Given the description of an element on the screen output the (x, y) to click on. 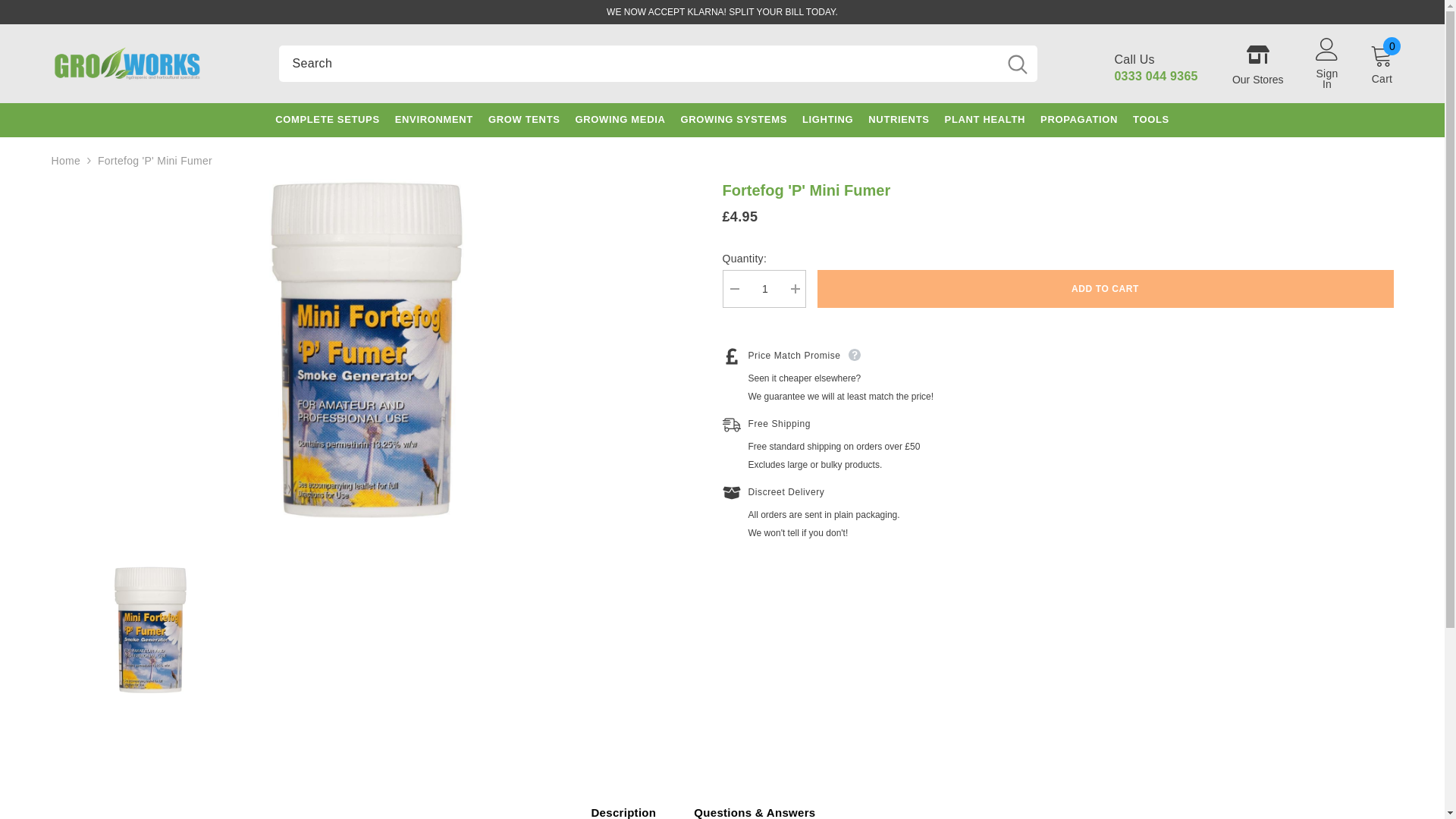
GROWING SYSTEMS (733, 124)
COMPLETE SETUPS (327, 129)
Our Stores (1257, 63)
GROWING MEDIA (619, 124)
GROW TENTS (523, 124)
ENVIRONMENT (433, 127)
1 (763, 288)
0333 044 9365 (1154, 75)
